Given the description of an element on the screen output the (x, y) to click on. 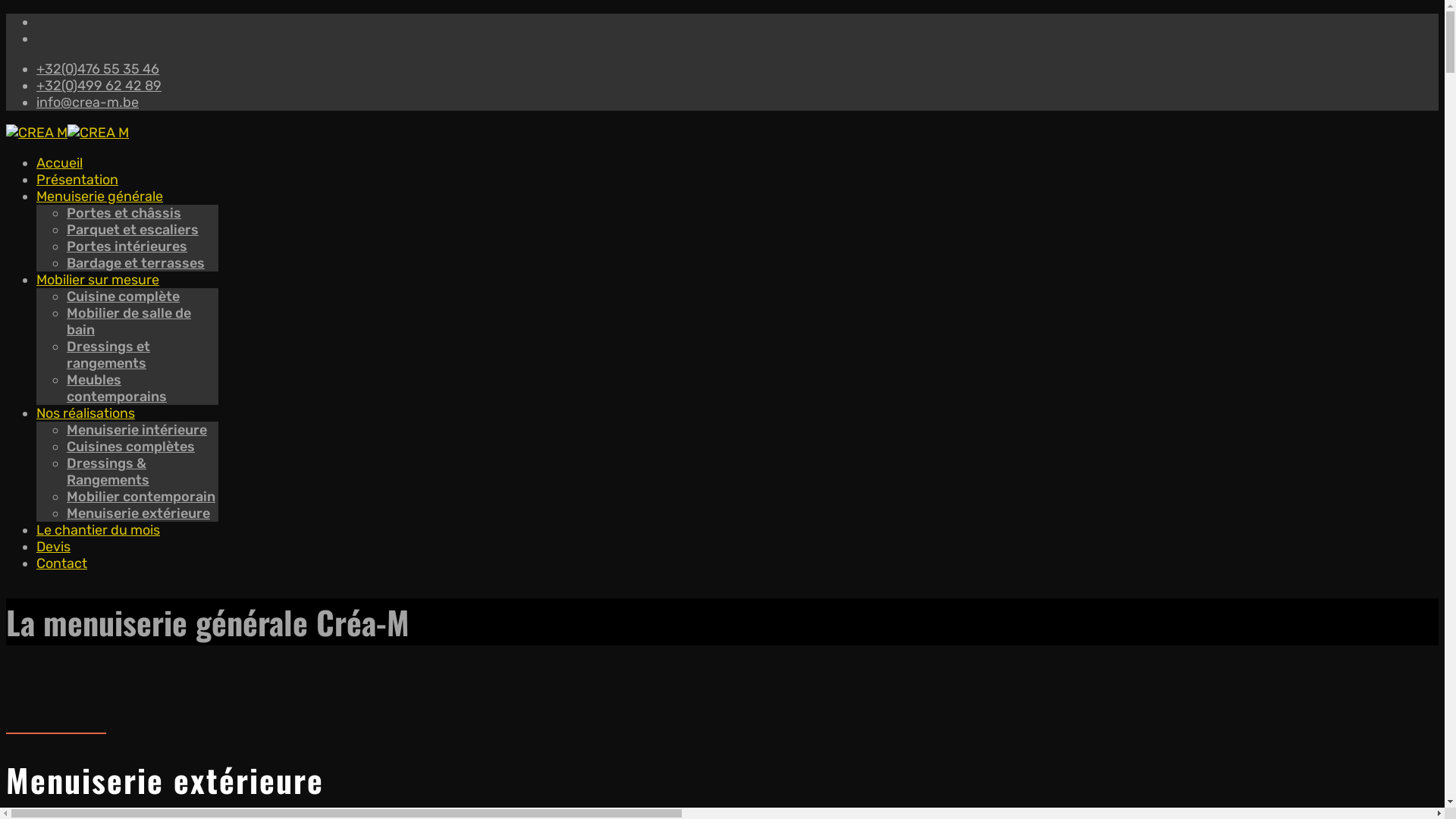
Devis Element type: text (53, 546)
info@crea-m.be Element type: text (87, 102)
Dressings & Rangements Element type: text (107, 471)
Mobilier de salle de bain Element type: text (128, 321)
Le chantier du mois Element type: text (98, 529)
Dressings et rangements Element type: text (108, 354)
Accueil Element type: text (59, 162)
+32(0)499 62 42 89 Element type: text (98, 85)
Bardage et terrasses Element type: text (135, 262)
Parquet et escaliers Element type: text (132, 229)
Meubles contemporains Element type: text (116, 387)
Contact Element type: text (61, 563)
Mobilier contemporain Element type: text (140, 496)
Mobilier sur mesure Element type: text (97, 279)
+32(0)476 55 35 46 Element type: text (97, 68)
